Given the description of an element on the screen output the (x, y) to click on. 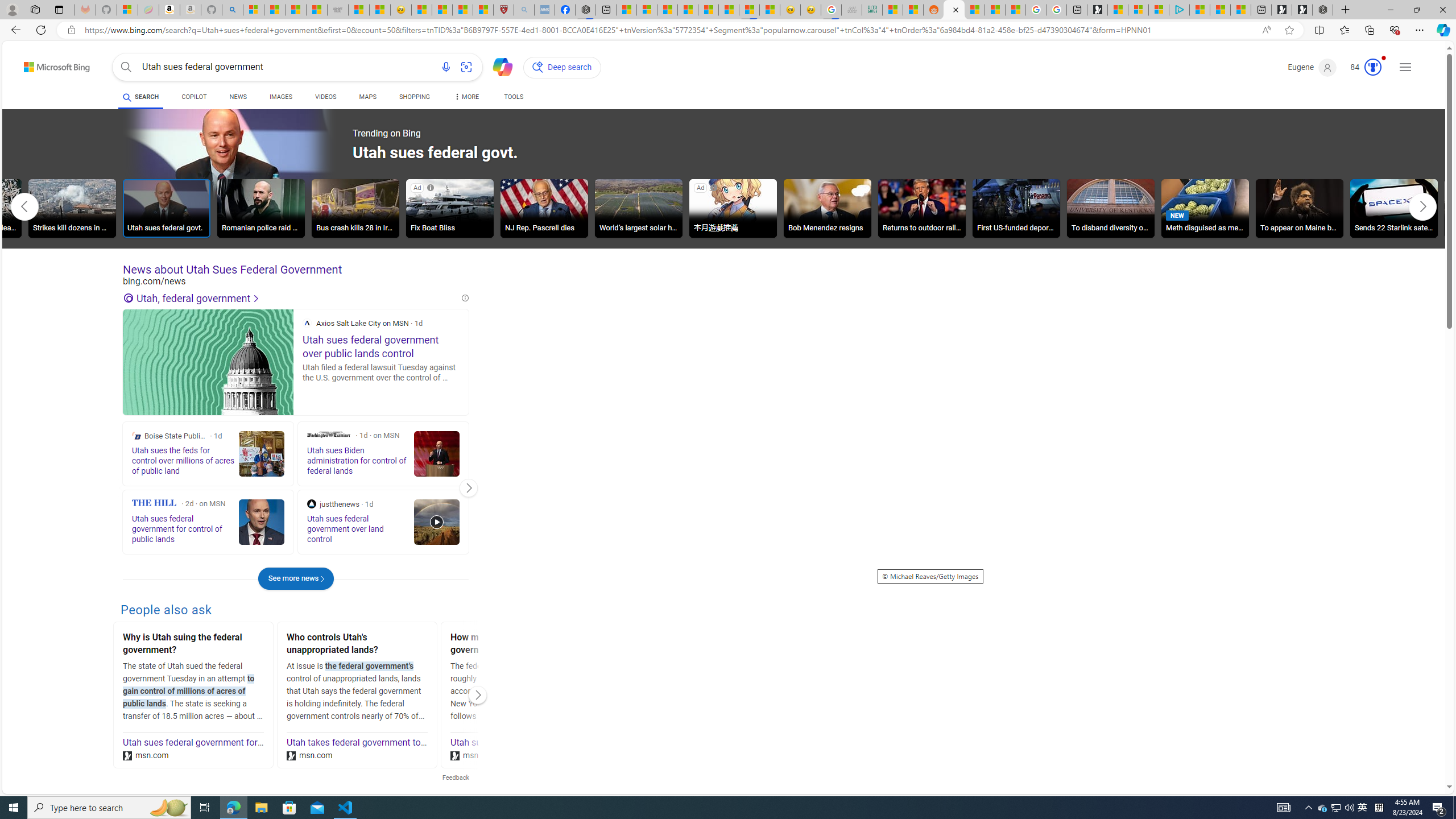
AutomationID: tob_left_arrow (24, 206)
AutomationID: serp_medal_svg (1372, 67)
NEWS (237, 98)
First US-funded deportation (1015, 209)
Bus crash kills 28 in Iran (354, 207)
Utah sues federal government - Search (954, 9)
